Given the description of an element on the screen output the (x, y) to click on. 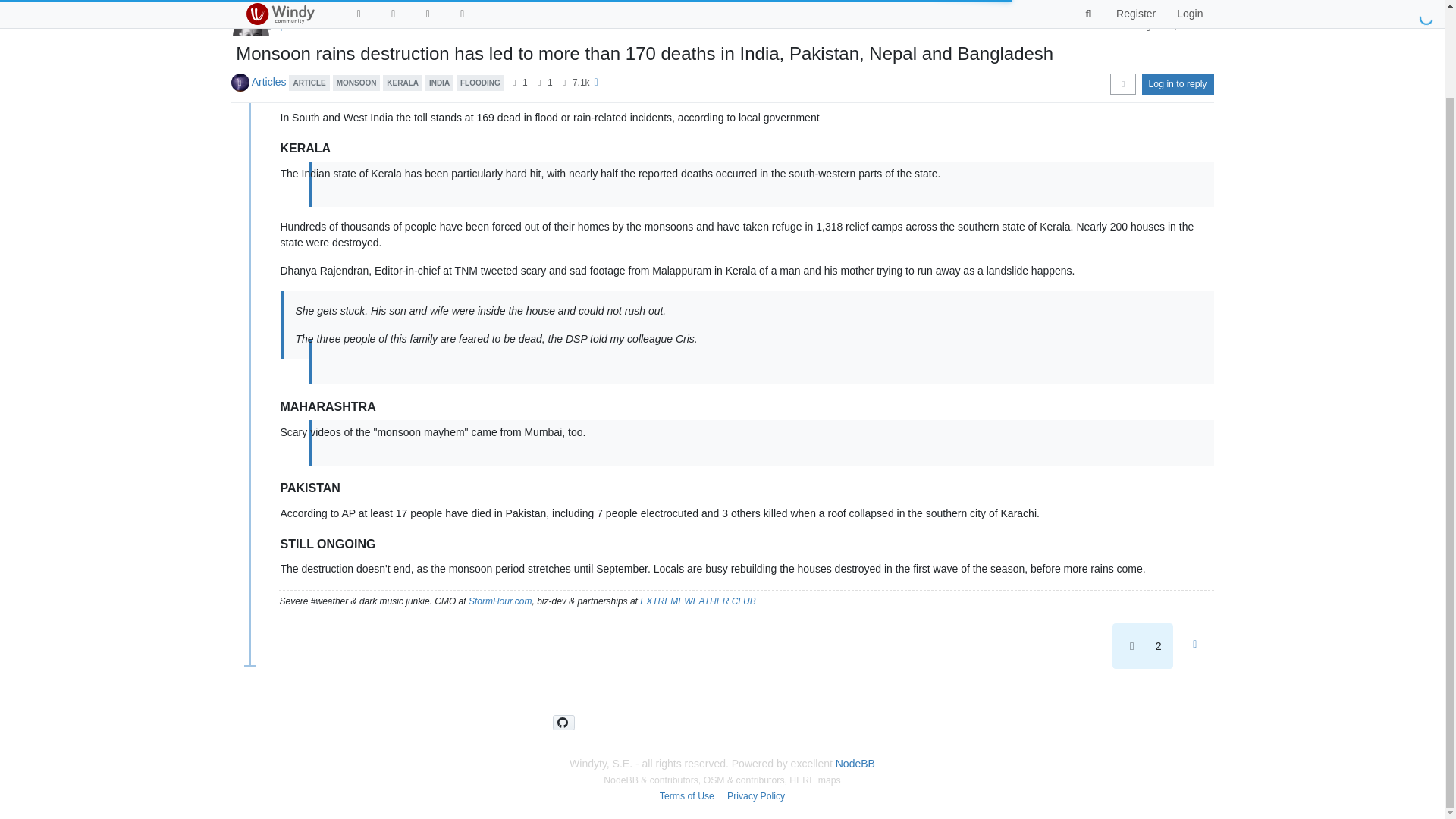
12 Aug 2019, 13:14 (1161, 25)
Log in to reply (1177, 0)
pavelneuman (308, 25)
